Given the description of an element on the screen output the (x, y) to click on. 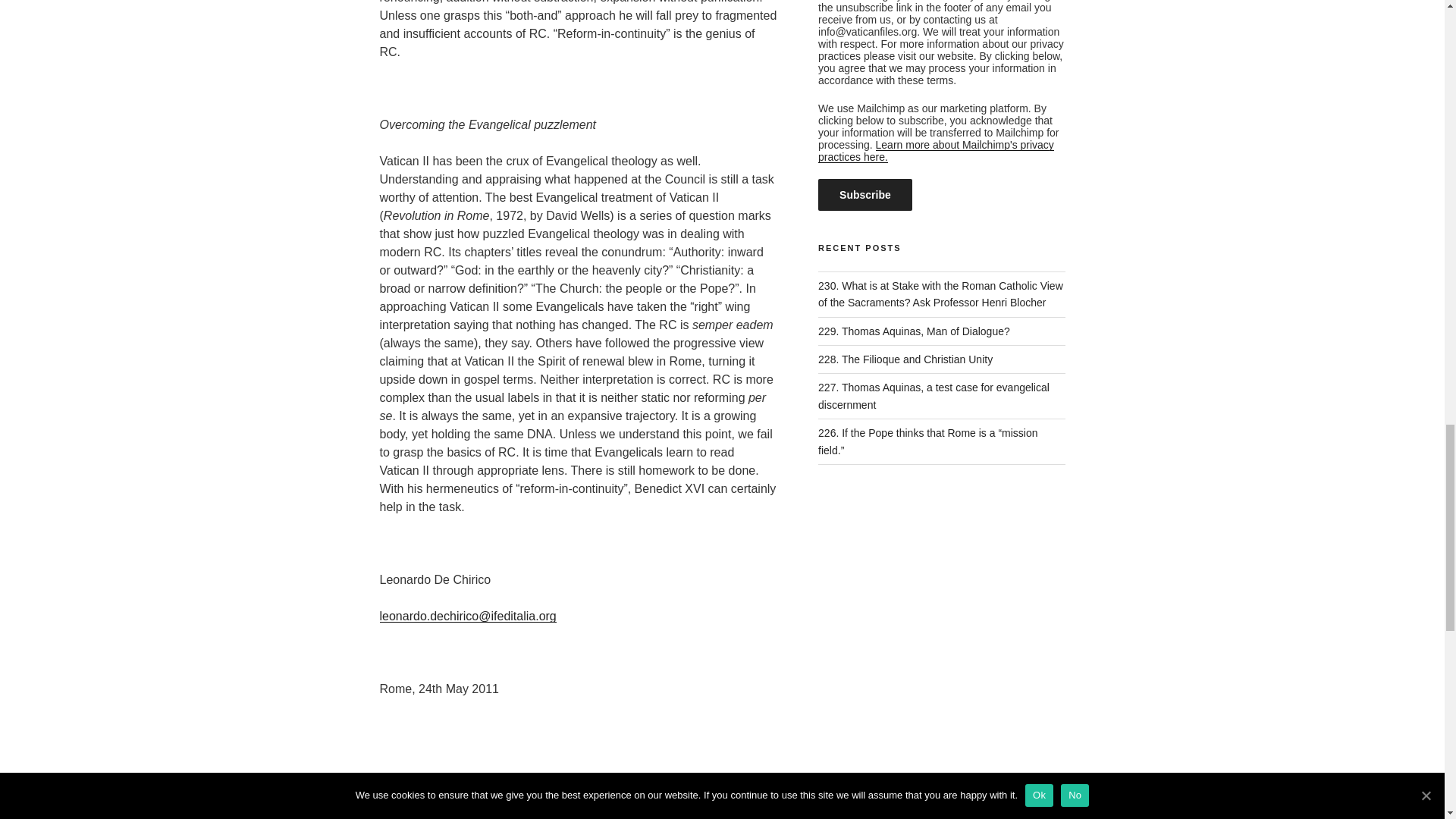
Subscribe (865, 194)
Learn more about Mailchimp's privacy practices here. (936, 150)
